Given the description of an element on the screen output the (x, y) to click on. 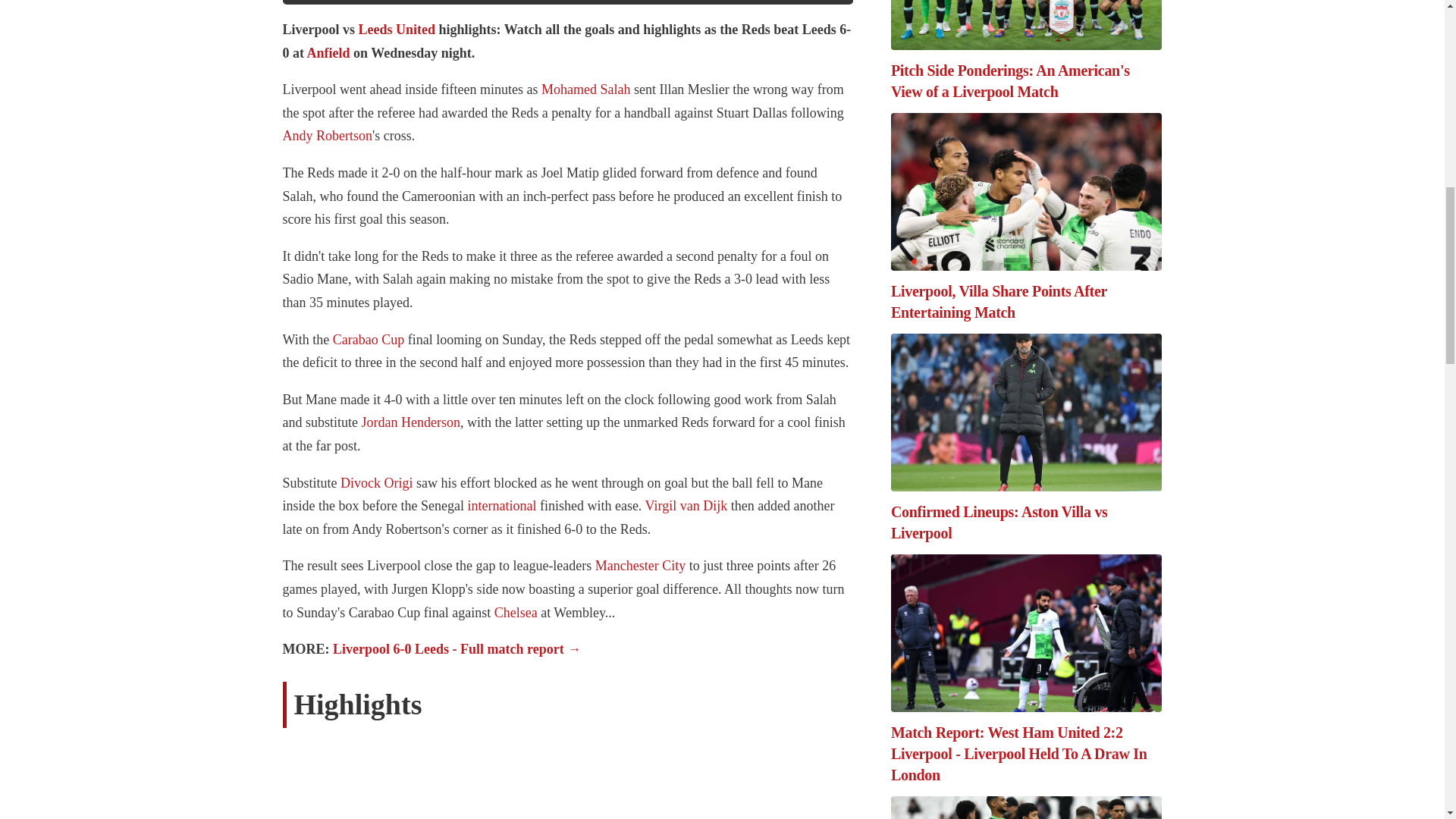
Related Liverpool FC news and insights (640, 565)
Related Liverpool FC news and insights (328, 52)
Related Liverpool FC news and insights (376, 482)
Related Liverpool FC news and insights (585, 89)
Related Liverpool FC news and insights (368, 339)
Related Liverpool FC news and insights (327, 135)
Related Liverpool FC news and insights (396, 29)
Related Liverpool FC news and insights (686, 505)
Related Liverpool FC news and insights (501, 505)
Related Liverpool FC news and insights (410, 421)
